Given the description of an element on the screen output the (x, y) to click on. 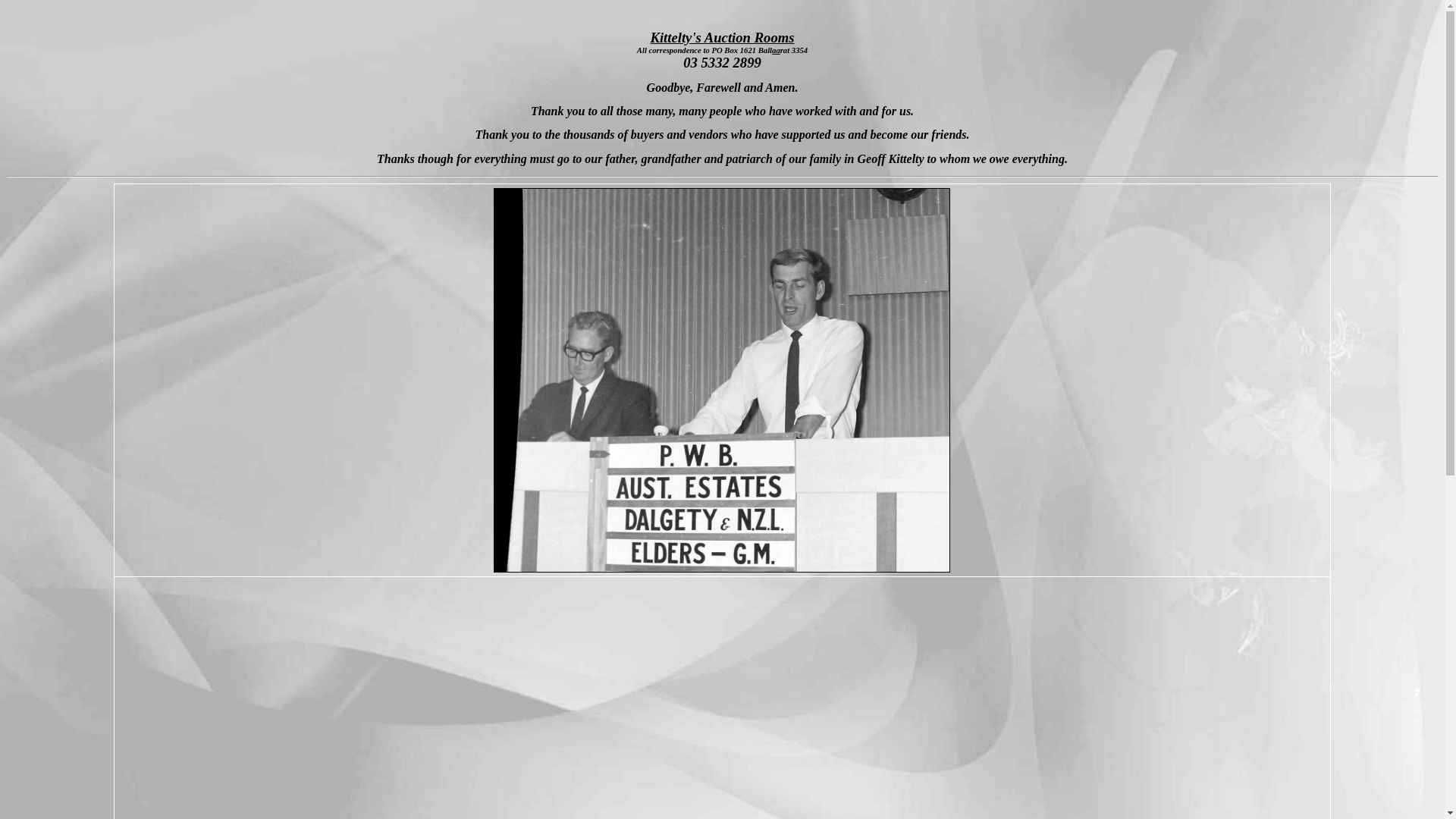
aa Element type: text (775, 49)
Kittelty's Auction Rooms Element type: text (721, 36)
